Given the description of an element on the screen output the (x, y) to click on. 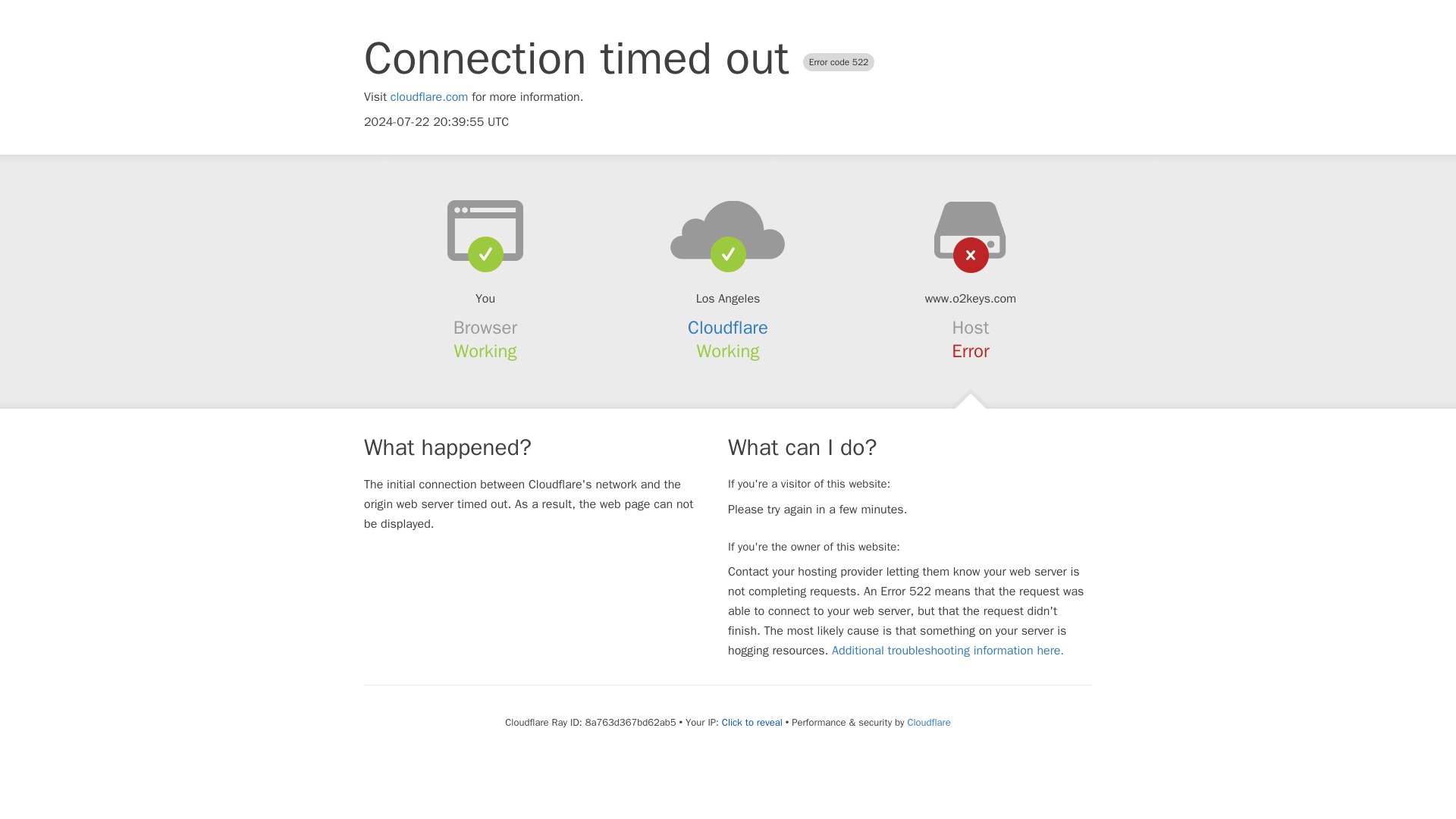
cloudflare.com (429, 96)
Cloudflare (928, 721)
Cloudflare (727, 327)
Additional troubleshooting information here. (947, 650)
Click to reveal (752, 722)
